Given the description of an element on the screen output the (x, y) to click on. 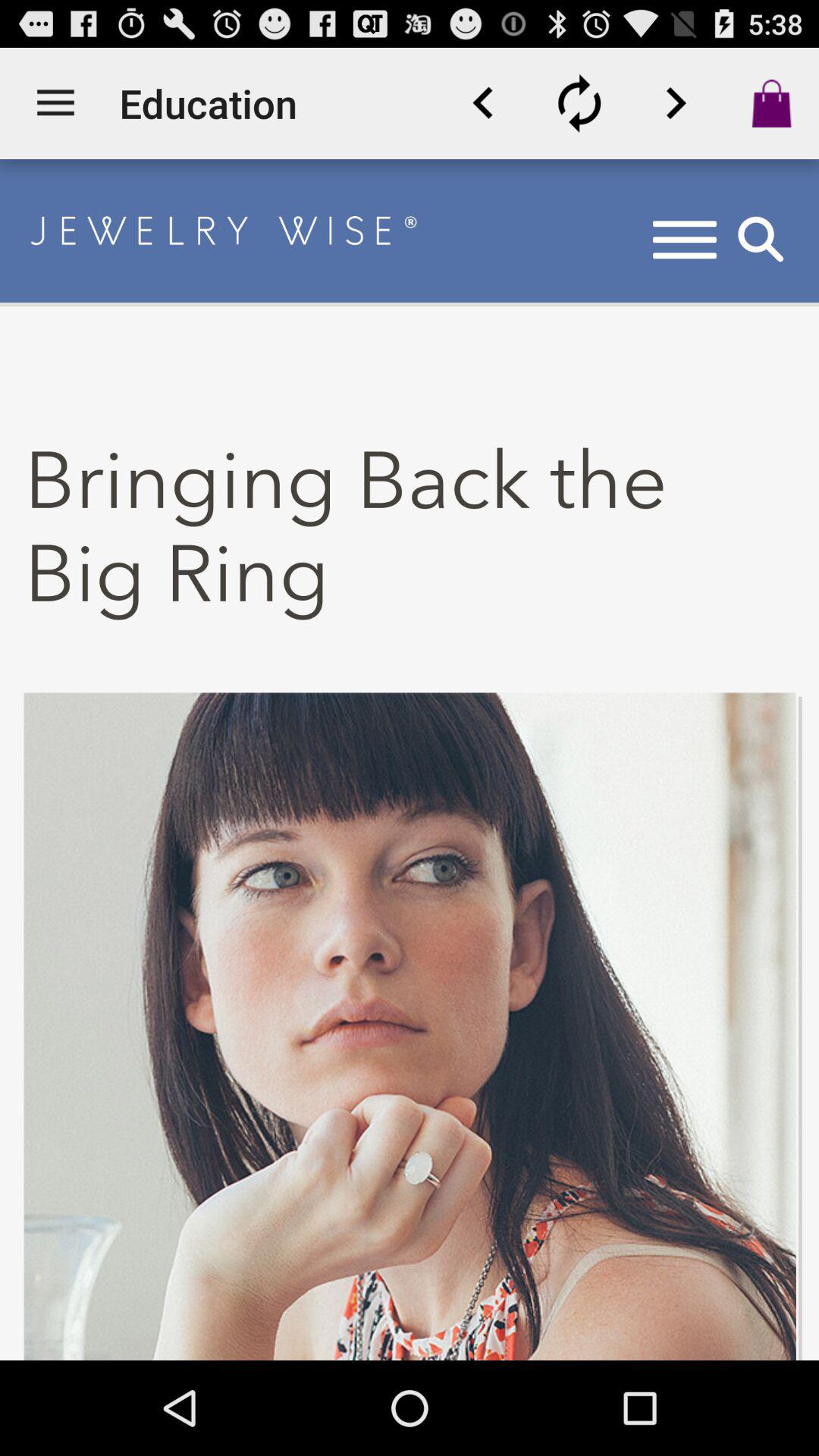
refresh (579, 103)
